Given the description of an element on the screen output the (x, y) to click on. 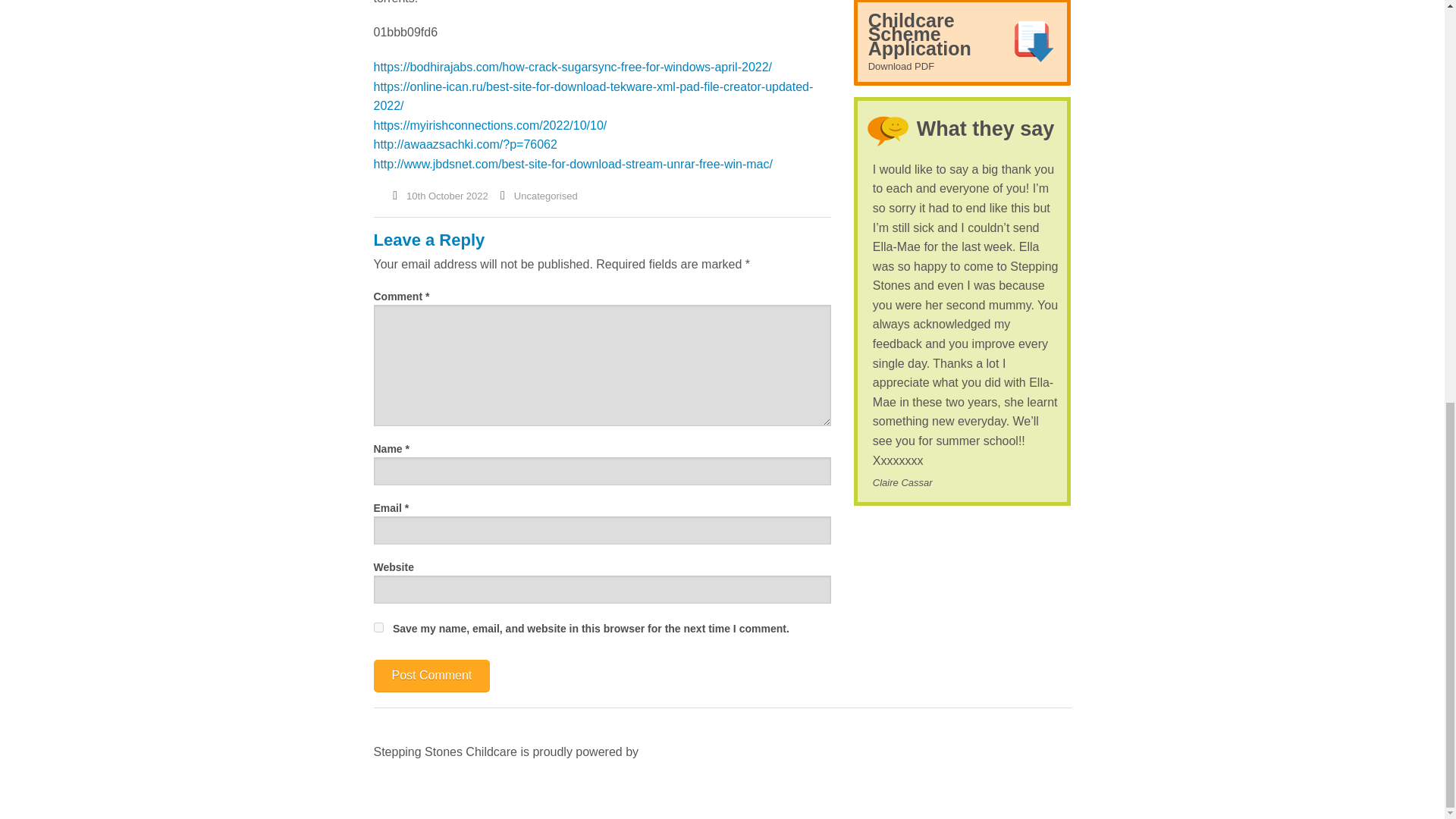
Post Comment (430, 676)
yes (377, 627)
Post Comment (430, 676)
Uncategorised (545, 195)
